Given the description of an element on the screen output the (x, y) to click on. 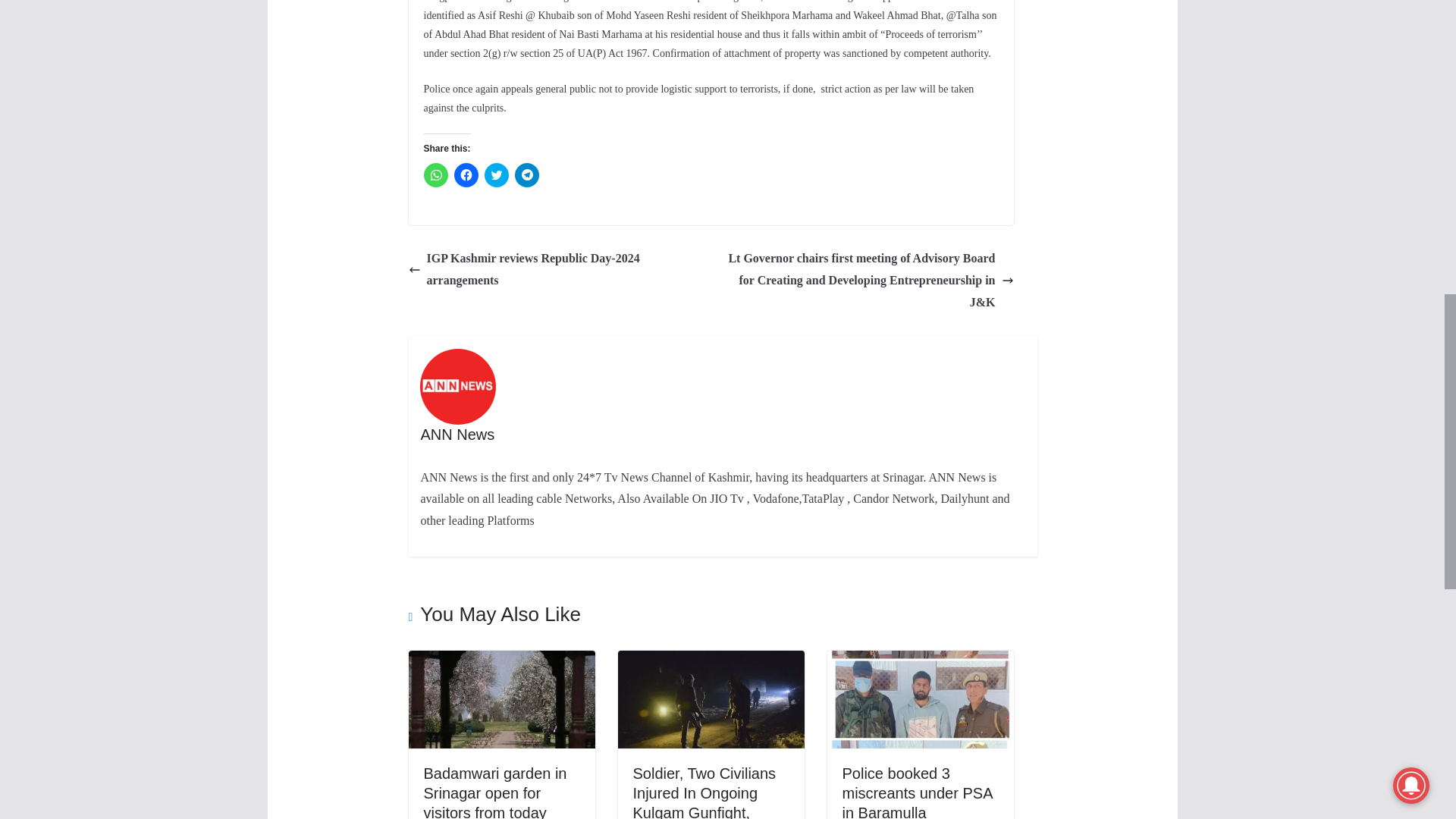
Click to share on Twitter (495, 174)
Badamwari garden in Srinagar open for visitors from today (500, 660)
IGP Kashmir reviews Republic Day-2024 arrangements (555, 269)
Badamwari garden in Srinagar open for visitors from today (494, 791)
Click to share on Facebook (464, 174)
Click to share on Telegram (525, 174)
Click to share on WhatsApp (434, 174)
